Given the description of an element on the screen output the (x, y) to click on. 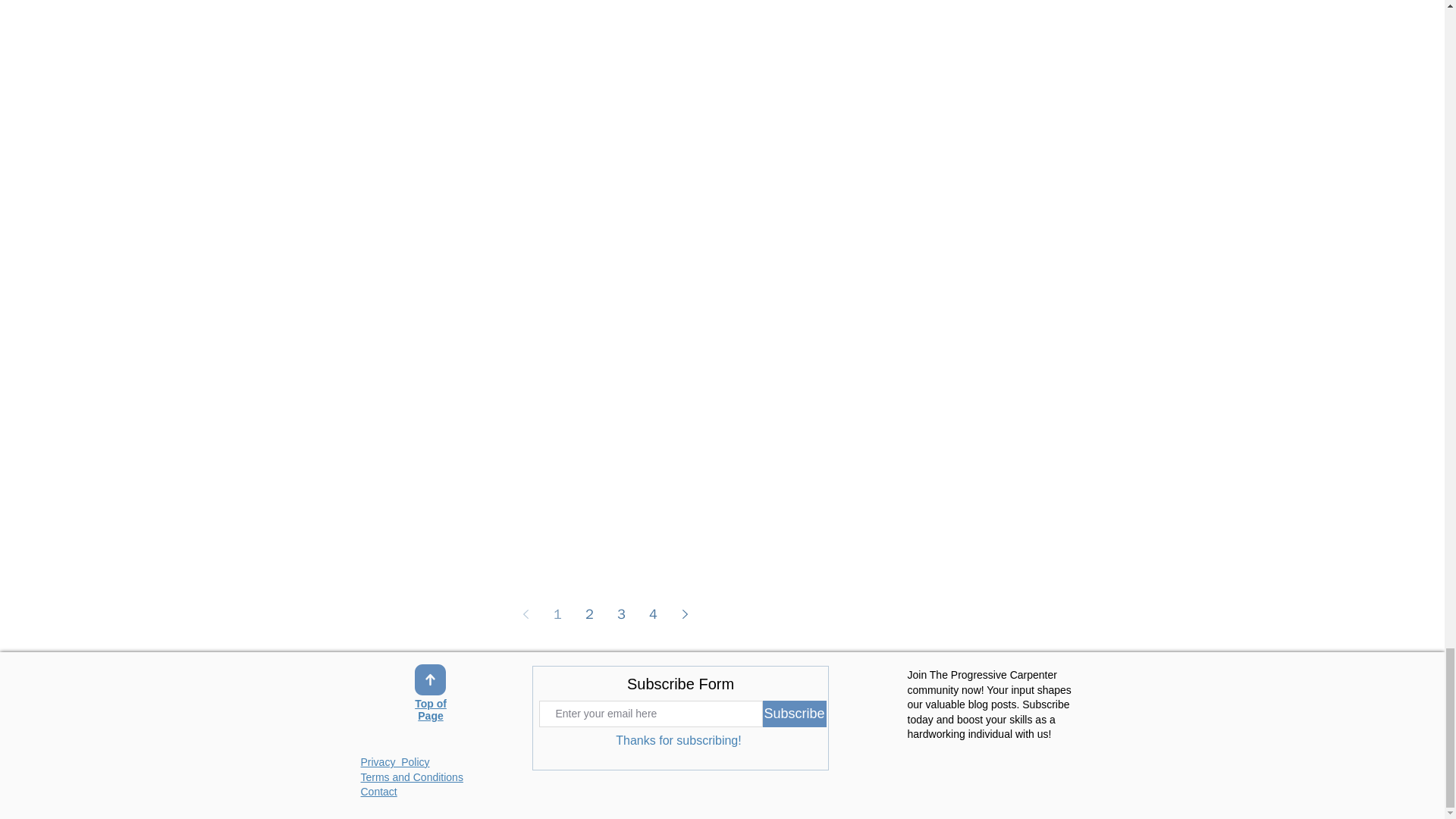
Privacy  Policy (395, 761)
Subscribe (794, 714)
2 (590, 614)
4 (653, 614)
Contact (379, 791)
Top of Page (430, 711)
3 (621, 614)
Terms and Conditions (412, 776)
